Given the description of an element on the screen output the (x, y) to click on. 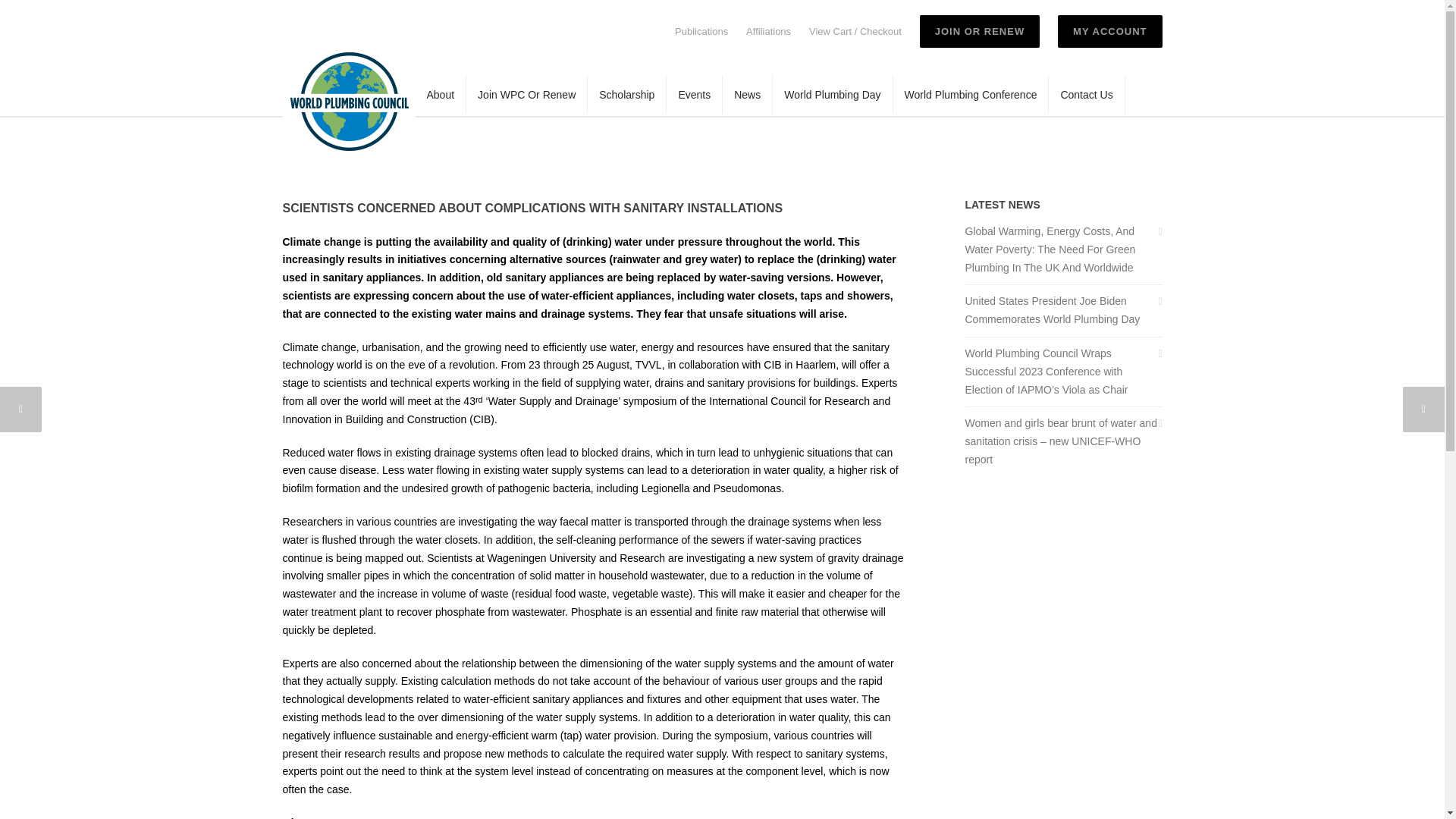
Publications (701, 31)
News (747, 93)
Join WPC Or Renew (526, 93)
Events (694, 93)
MY ACCOUNT (1109, 31)
World Plumbing Day (832, 93)
JOIN OR RENEW (979, 31)
About (440, 93)
Affiliations (767, 31)
Scholarship (627, 93)
